Given the description of an element on the screen output the (x, y) to click on. 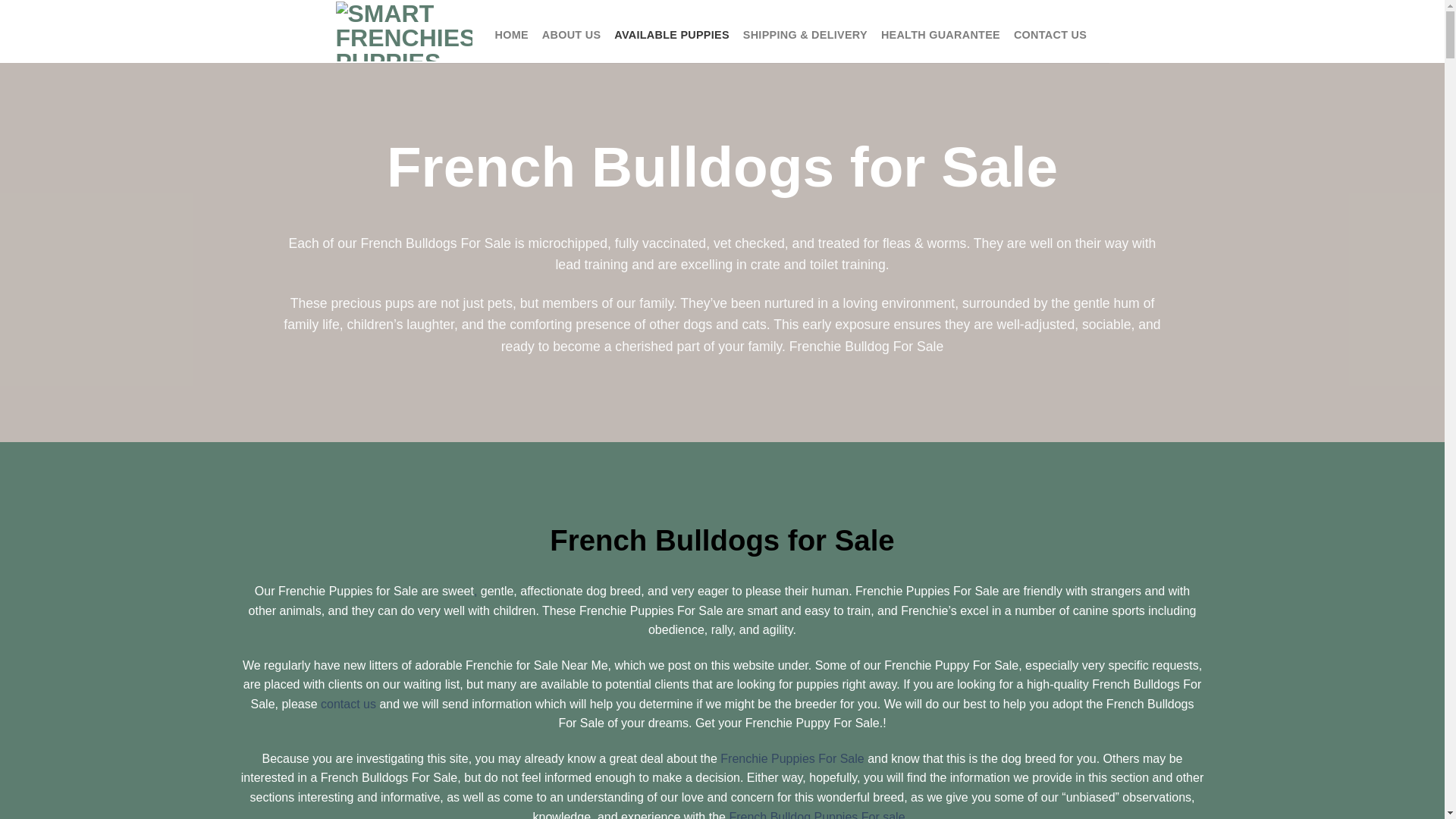
contact us (347, 703)
Frenchie Bulldog For Sale (866, 346)
ABOUT US (570, 34)
Smart Frenchies Puppies - French Bulldog Puppies For sale (402, 31)
CONTACT US (1049, 34)
HEALTH GUARANTEE (940, 34)
HOME (511, 34)
AVAILABLE PUPPIES (671, 34)
French Bulldog Puppies For sale (816, 814)
Frenchie Puppies For Sale (791, 758)
